Given the description of an element on the screen output the (x, y) to click on. 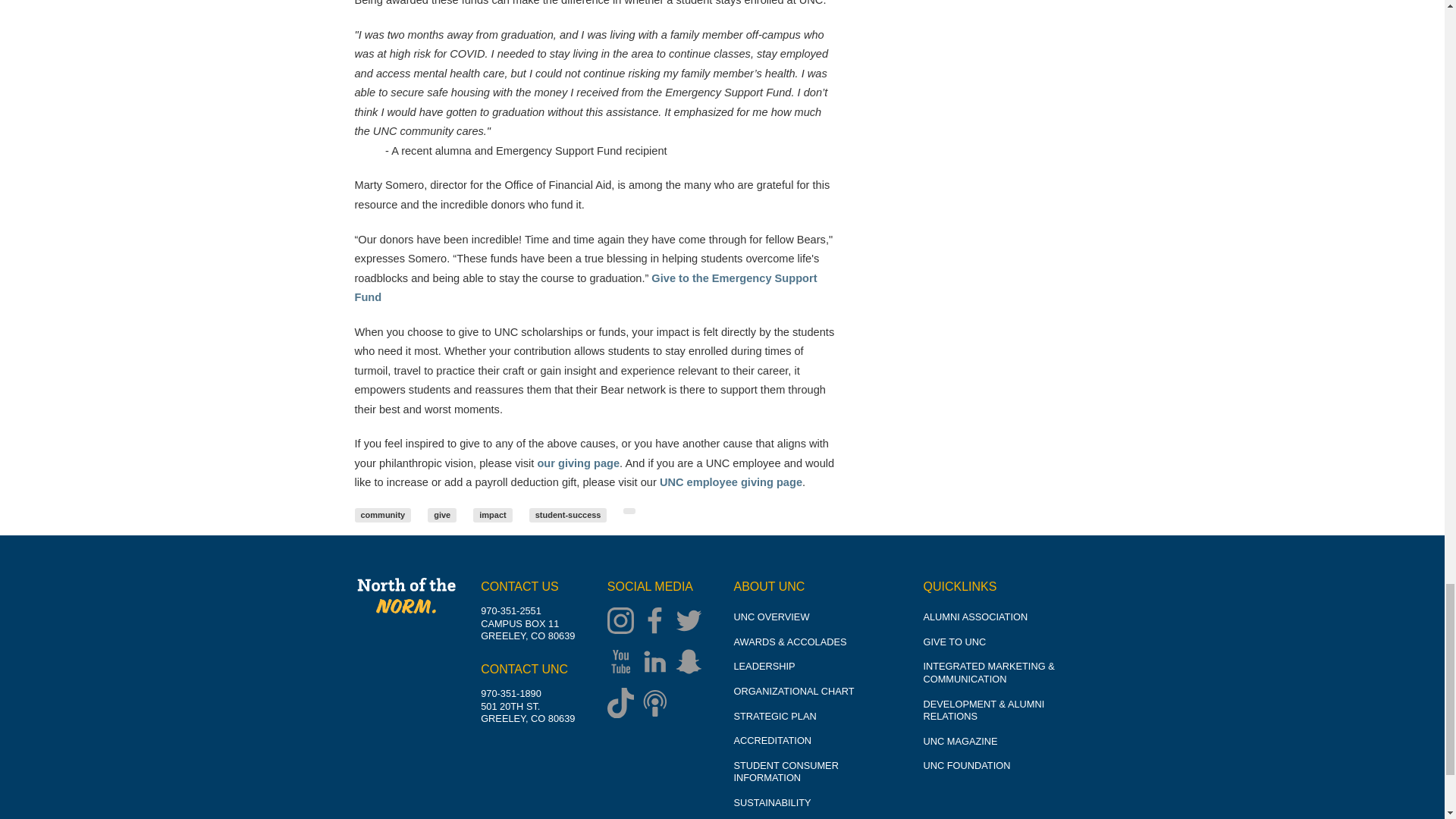
YouTube (624, 663)
Facebook (658, 622)
Instagram (624, 622)
Snapchat (692, 663)
LinkedIn (658, 663)
TikTok (624, 704)
Bear in Mind Podcast (658, 704)
Twitter (692, 622)
